Given the description of an element on the screen output the (x, y) to click on. 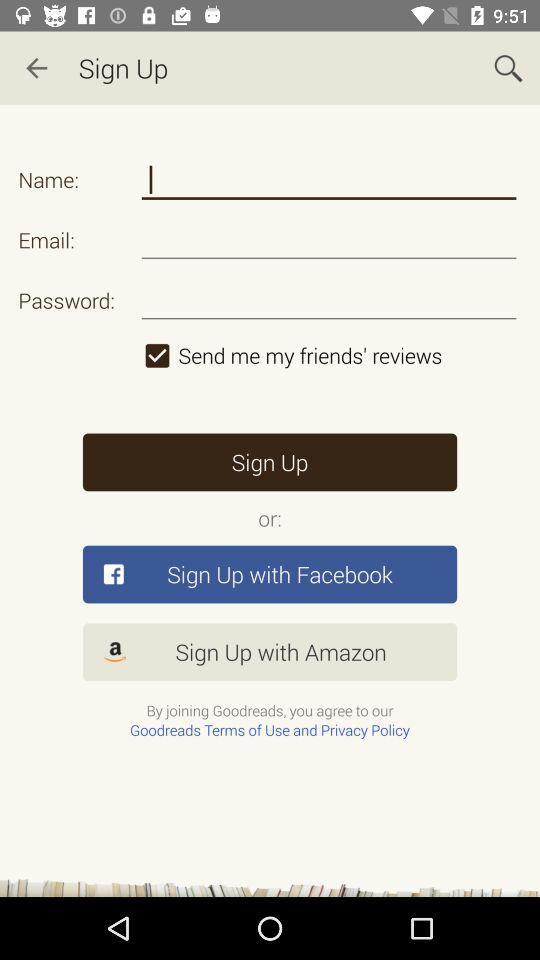
open the icon to the right of name: (328, 179)
